Given the description of an element on the screen output the (x, y) to click on. 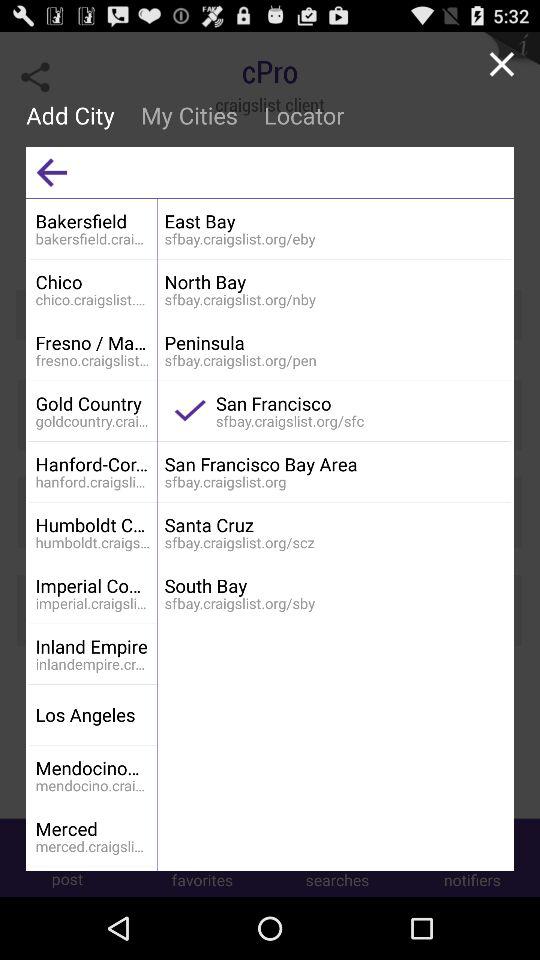
scroll to my cities item (188, 115)
